Given the description of an element on the screen output the (x, y) to click on. 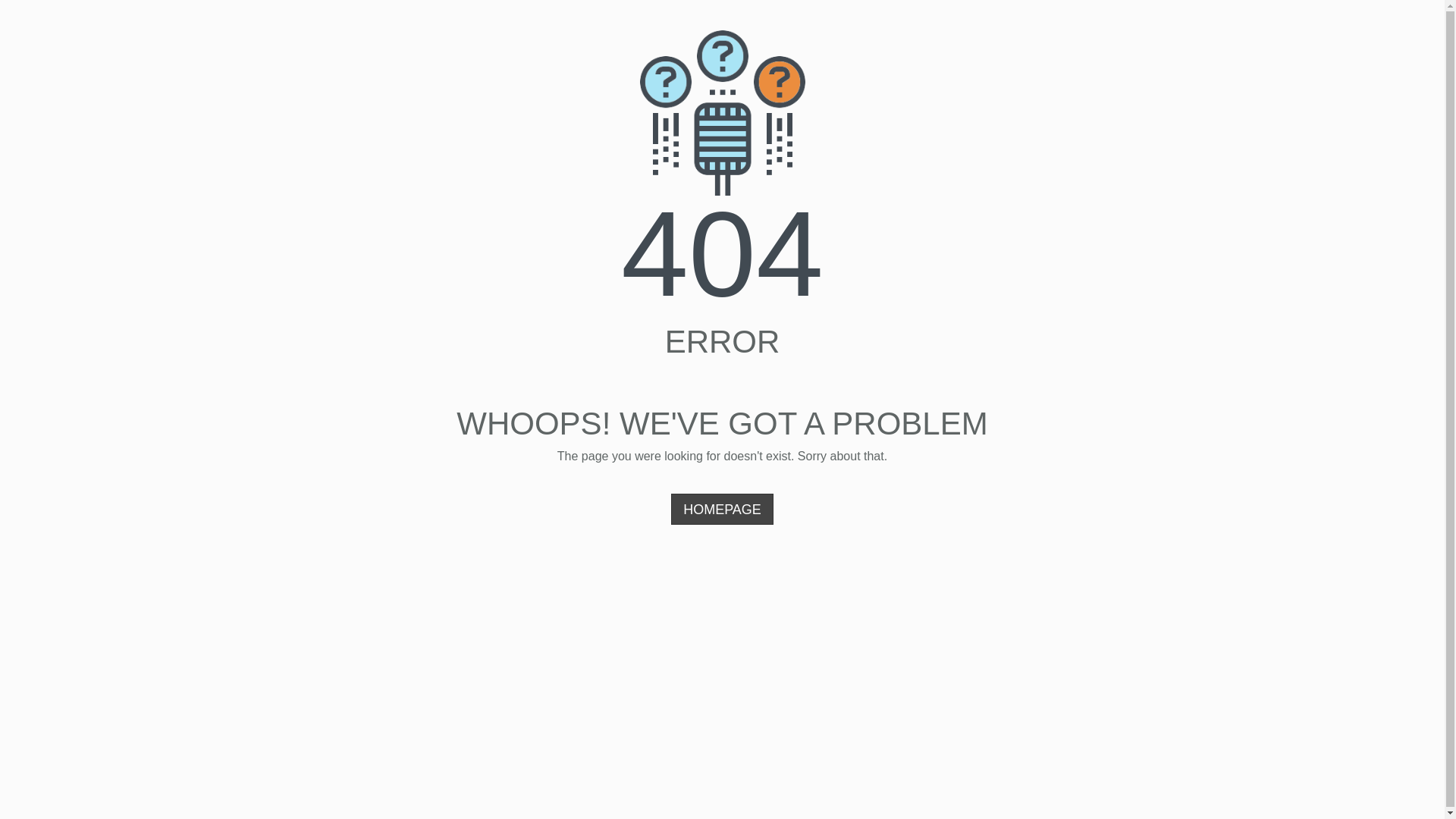
HOMEPAGE Element type: text (722, 508)
